Given the description of an element on the screen output the (x, y) to click on. 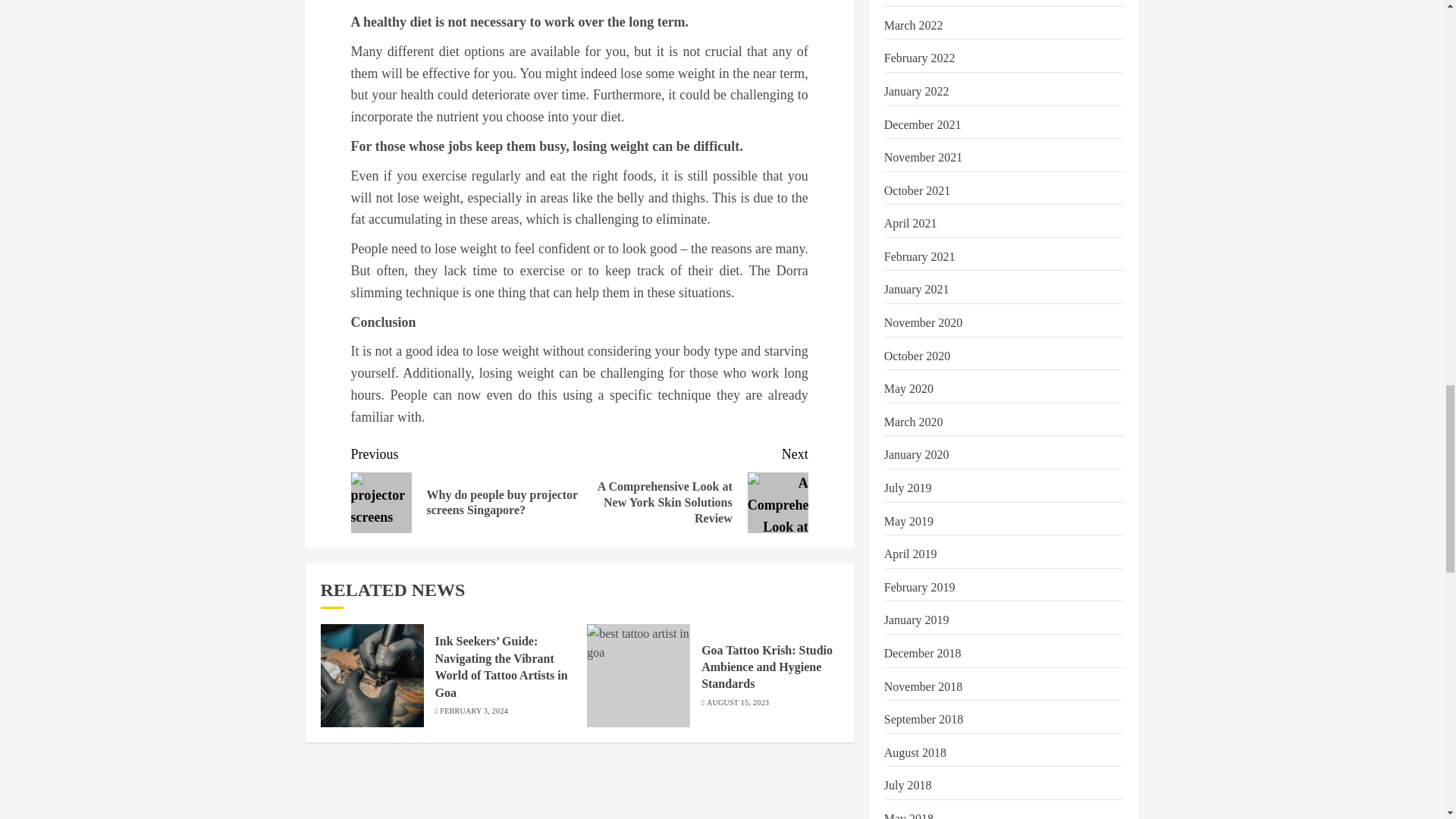
FEBRUARY 3, 2024 (473, 710)
Goa Tattoo Krish: Studio Ambience and Hygiene Standards (766, 667)
AUGUST 15, 2023 (737, 702)
